Given the description of an element on the screen output the (x, y) to click on. 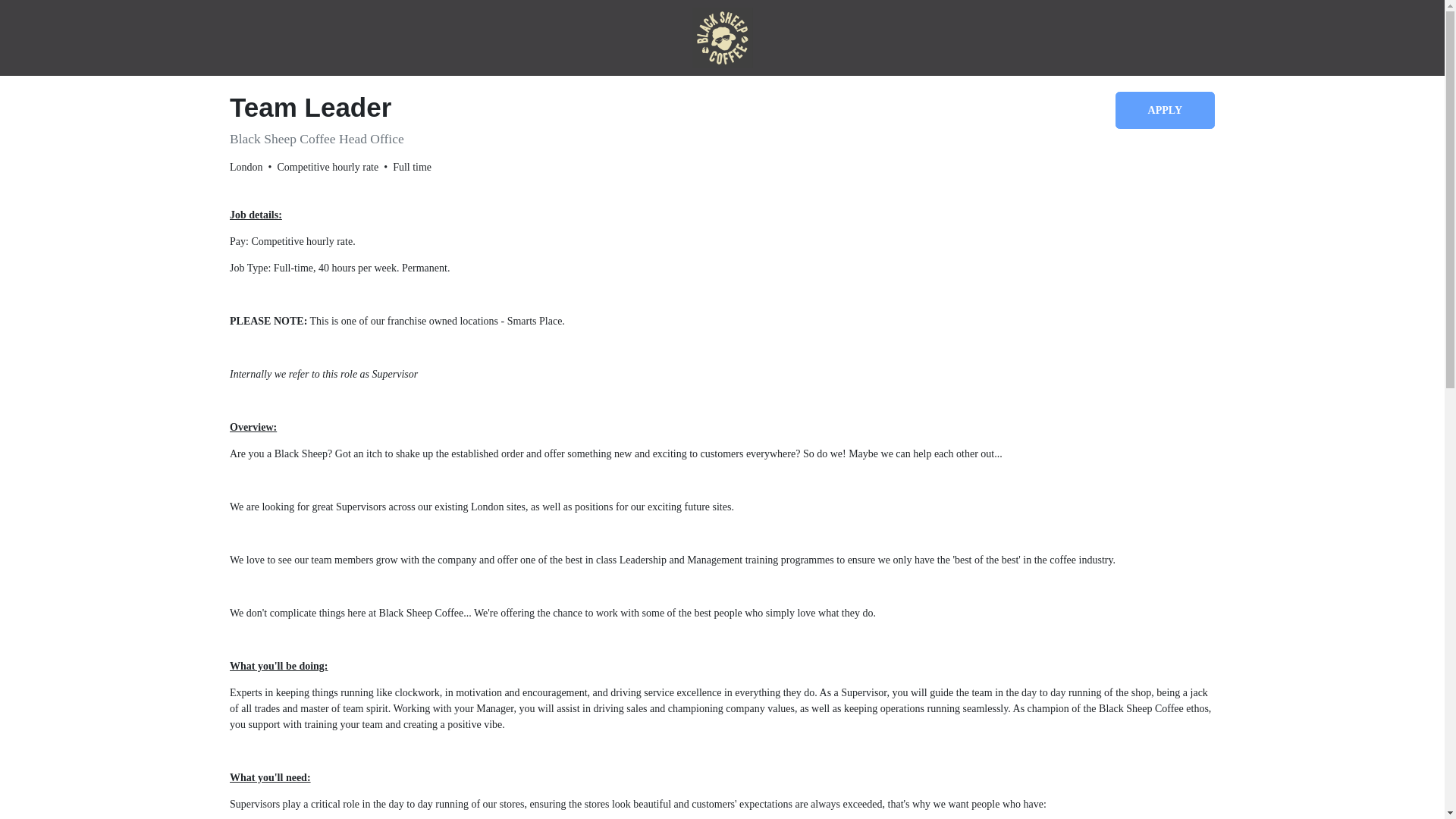
APPLY (1164, 109)
